Given the description of an element on the screen output the (x, y) to click on. 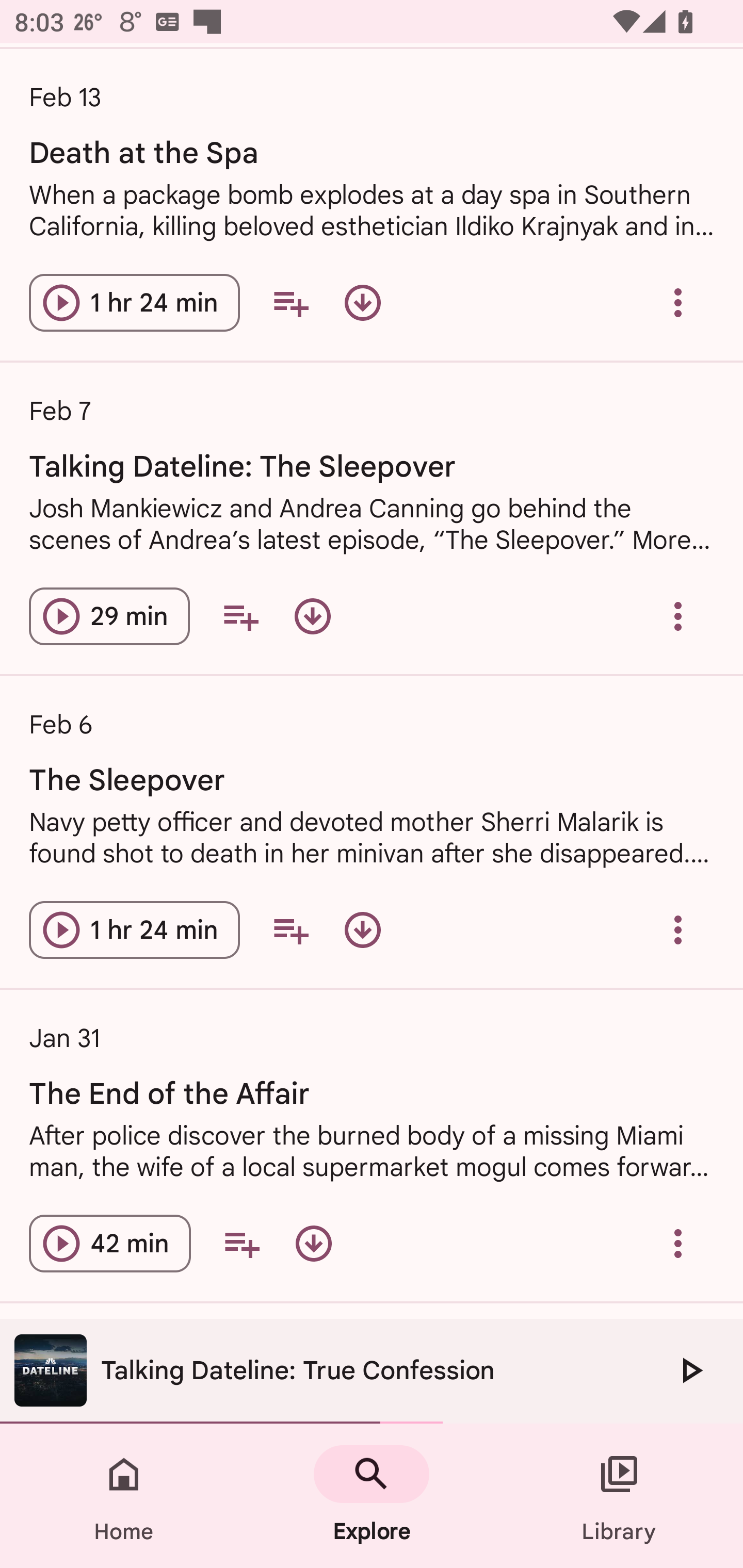
Play episode Death at the Spa 1 hr 24 min (133, 302)
Add to your queue (290, 302)
Download episode (362, 302)
Overflow menu (677, 302)
Add to your queue (240, 616)
Download episode (312, 616)
Overflow menu (677, 616)
Play episode The Sleepover 1 hr 24 min (133, 929)
Add to your queue (290, 929)
Download episode (362, 929)
Overflow menu (677, 929)
Play episode The End of the Affair 42 min (109, 1243)
Add to your queue (241, 1243)
Download episode (313, 1243)
Overflow menu (677, 1243)
Play (690, 1370)
Home (123, 1495)
Library (619, 1495)
